Given the description of an element on the screen output the (x, y) to click on. 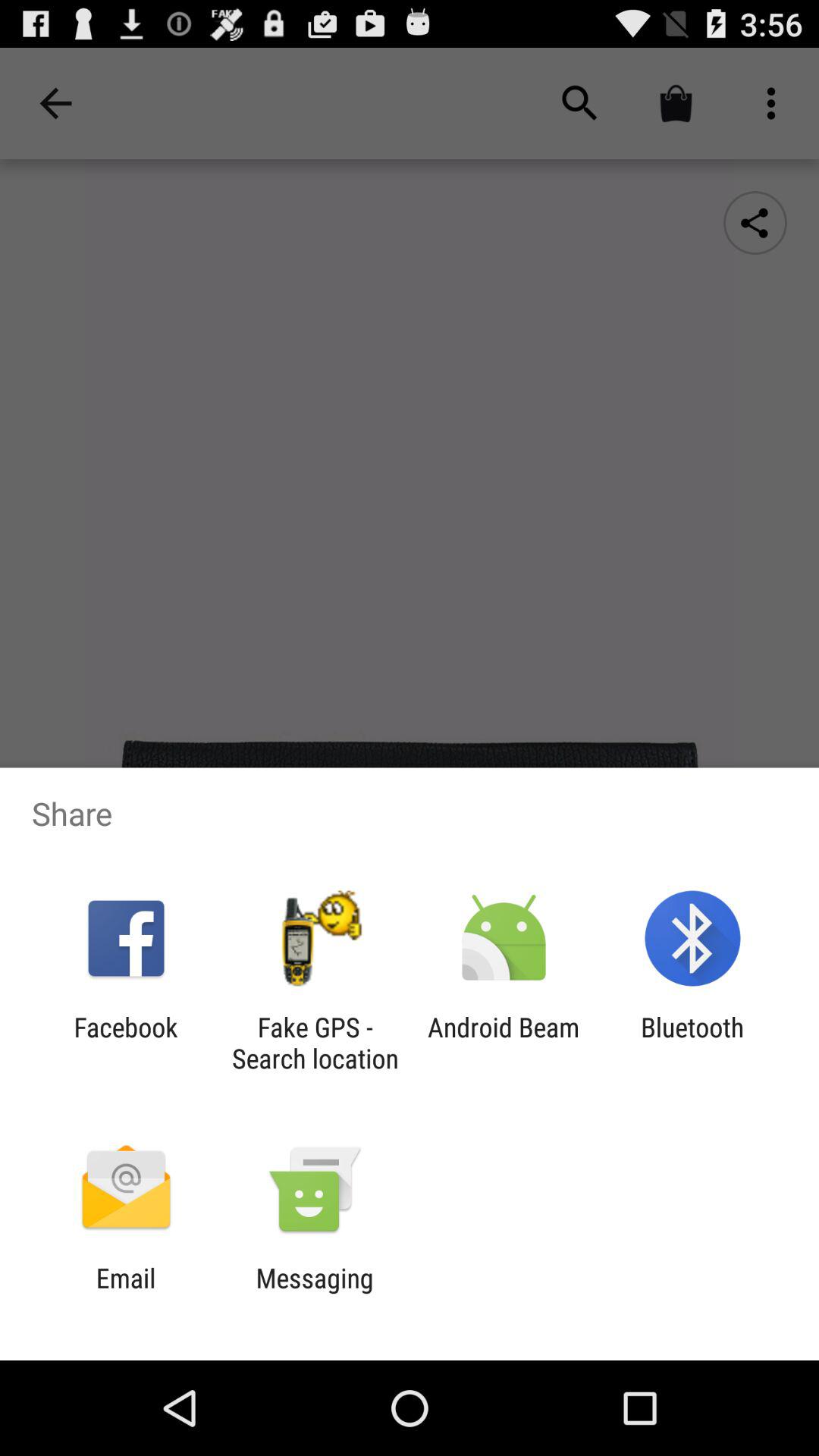
choose the email app (125, 1293)
